Given the description of an element on the screen output the (x, y) to click on. 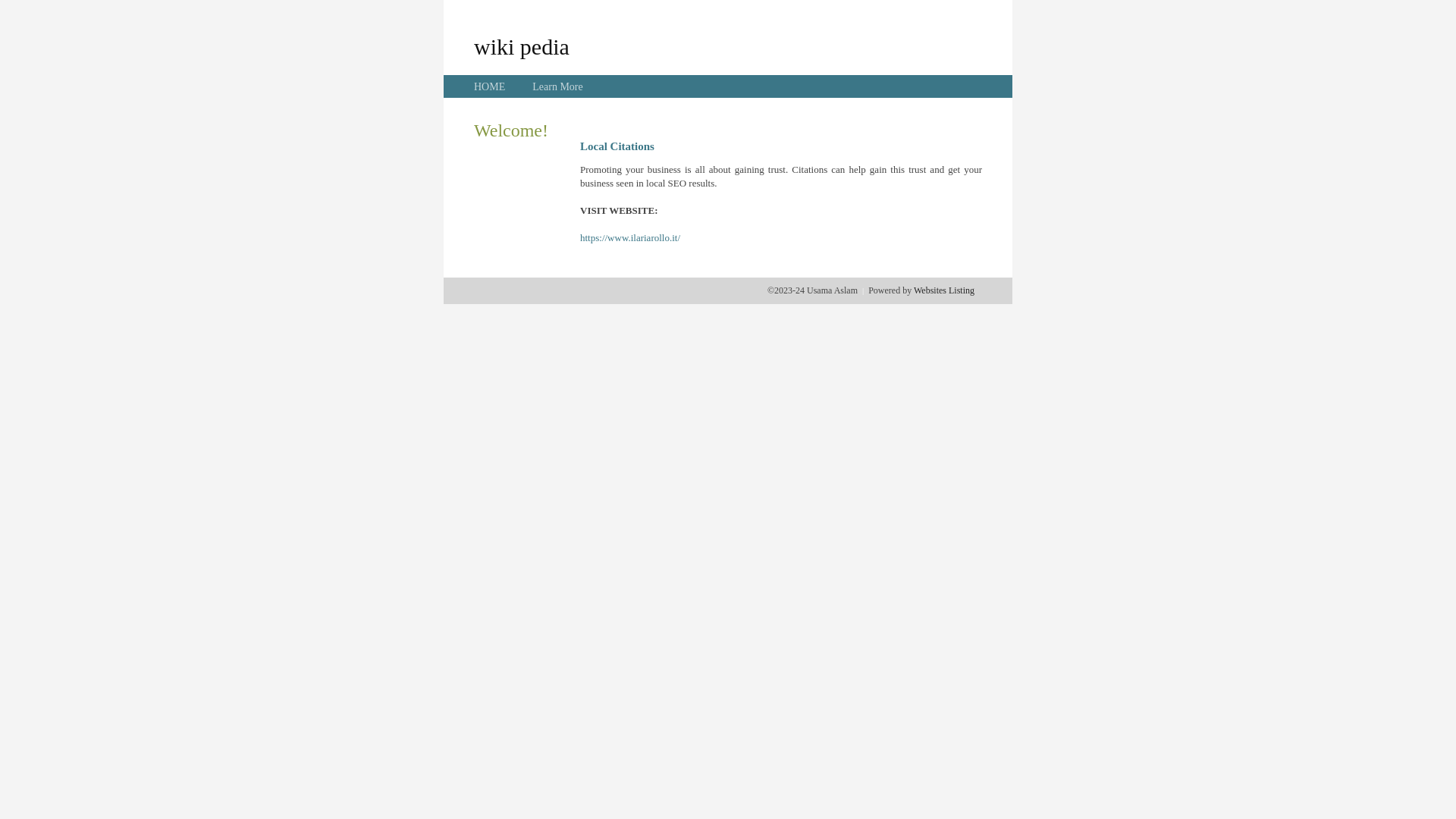
HOME Element type: text (489, 86)
Websites Listing Element type: text (943, 290)
Learn More Element type: text (557, 86)
wiki pedia Element type: text (521, 46)
https://www.ilariarollo.it/ Element type: text (630, 237)
